Given the description of an element on the screen output the (x, y) to click on. 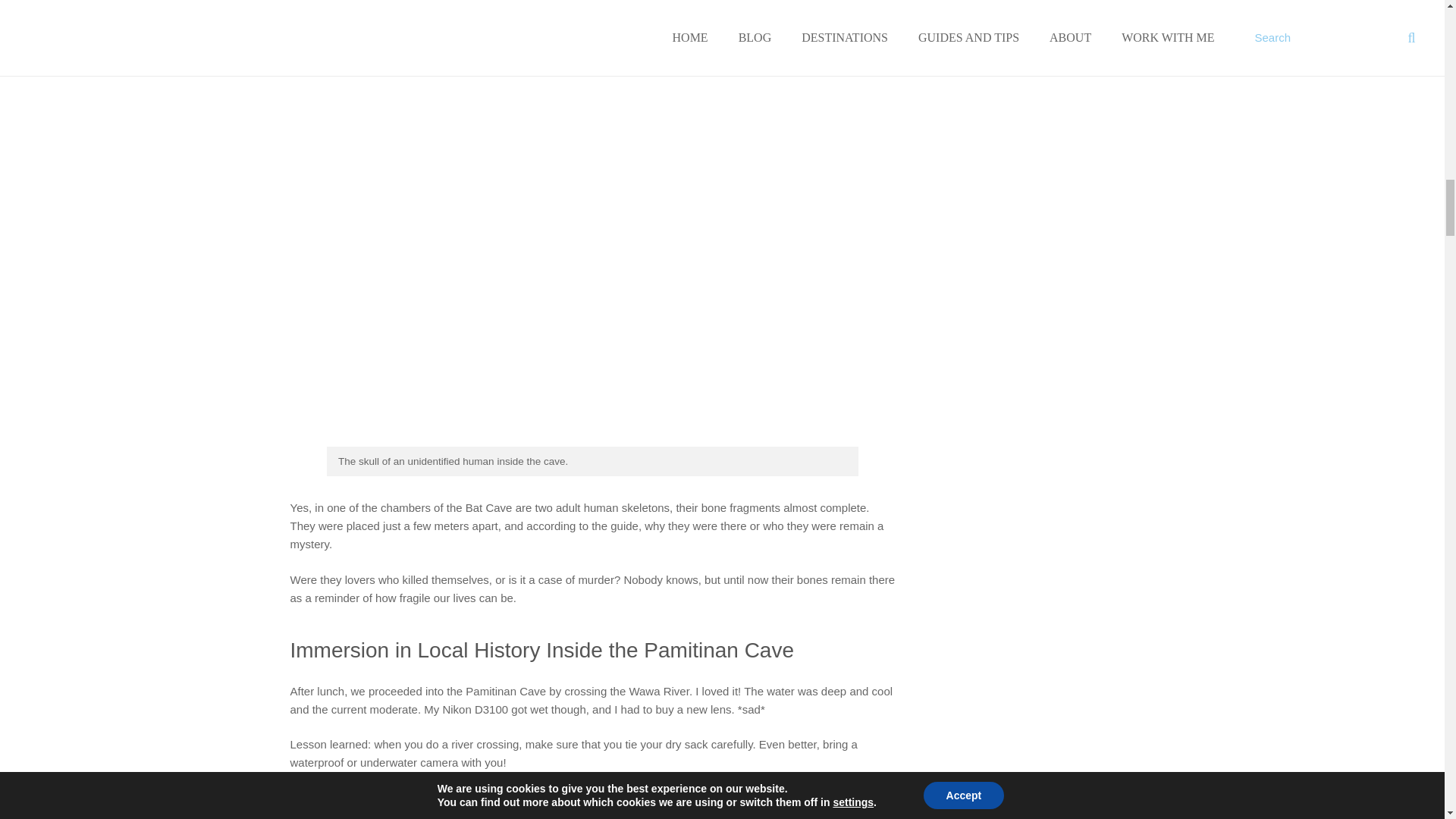
skeleton-cave by Aleah Phils, on Flickr (588, 441)
stalactite by Aleah Phils, on Flickr (588, 28)
stalactite (588, 16)
choco-vanilla-rock (587, 804)
